Given the description of an element on the screen output the (x, y) to click on. 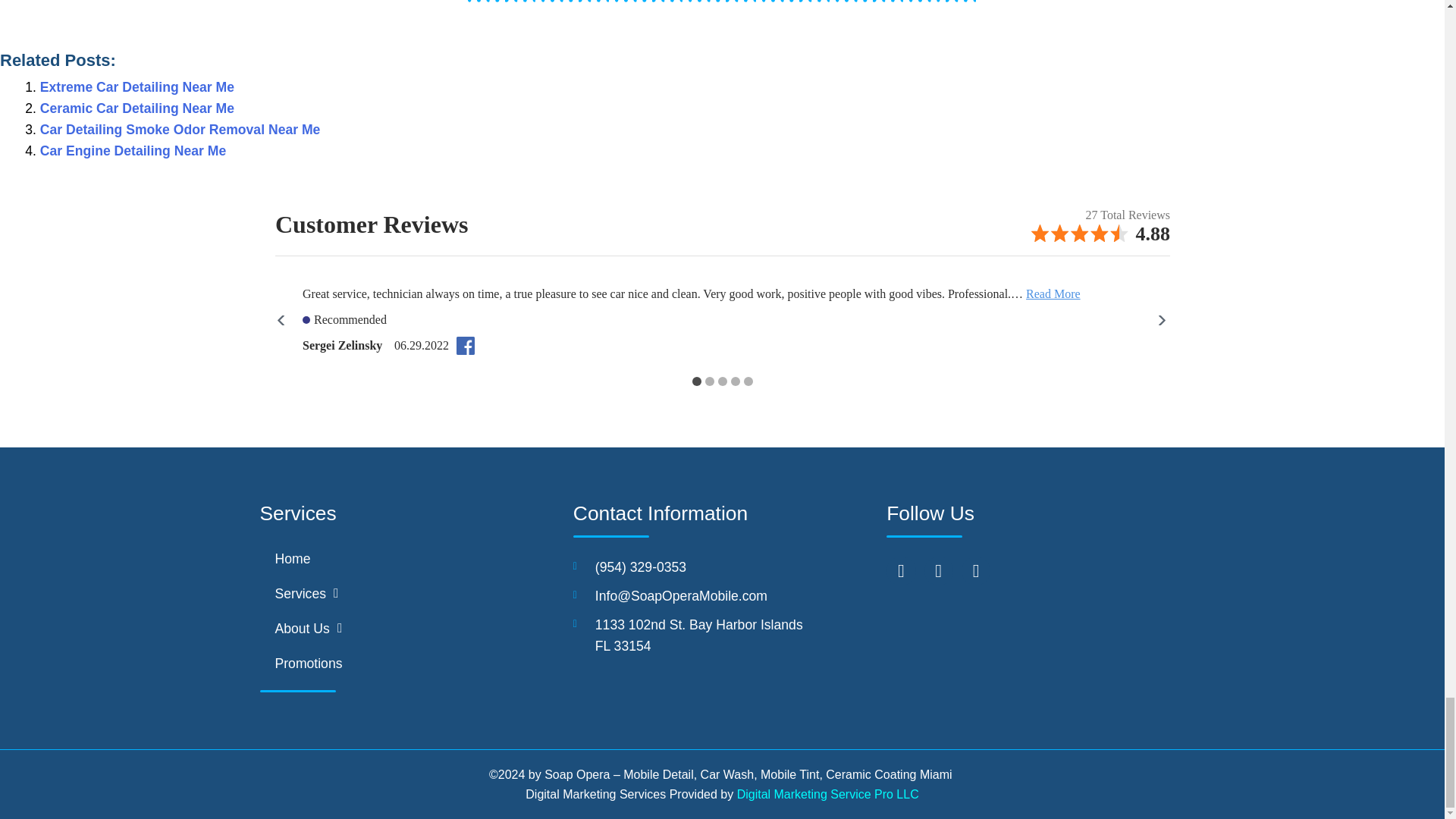
Car Engine Detailing Near Me (132, 150)
Ceramic Car Detailing Near Me (137, 108)
Ceramic Car Detailing Near Me (137, 108)
Extreme Car Detailing Near Me (137, 87)
Car Engine Detailing Near Me (132, 150)
Car Detailing Smoke Odor Removal Near Me (180, 129)
Car Detailing Smoke Odor Removal Near Me (180, 129)
Extreme Car Detailing Near Me (137, 87)
